Given the description of an element on the screen output the (x, y) to click on. 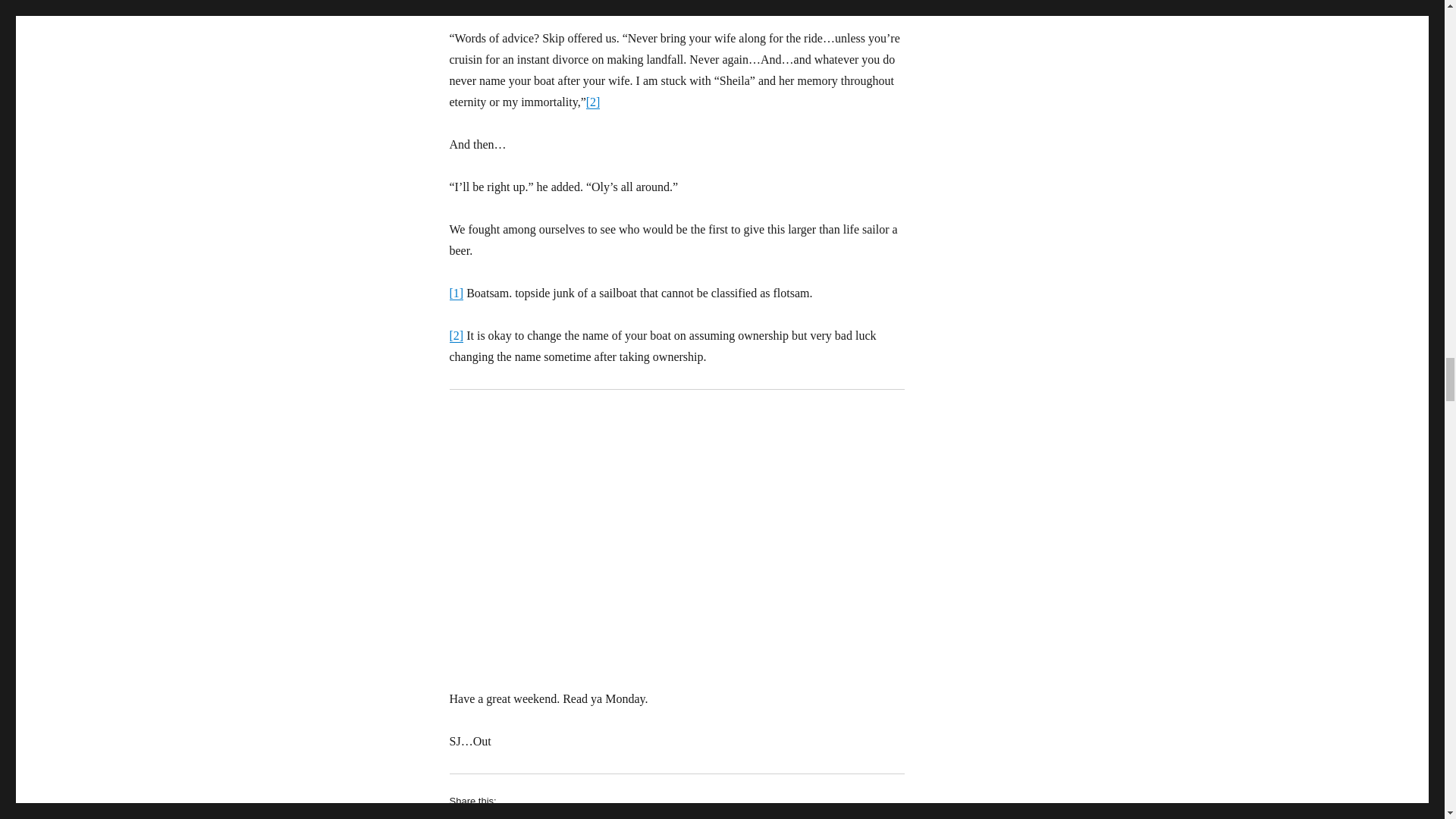
Share (478, 817)
